Given the description of an element on the screen output the (x, y) to click on. 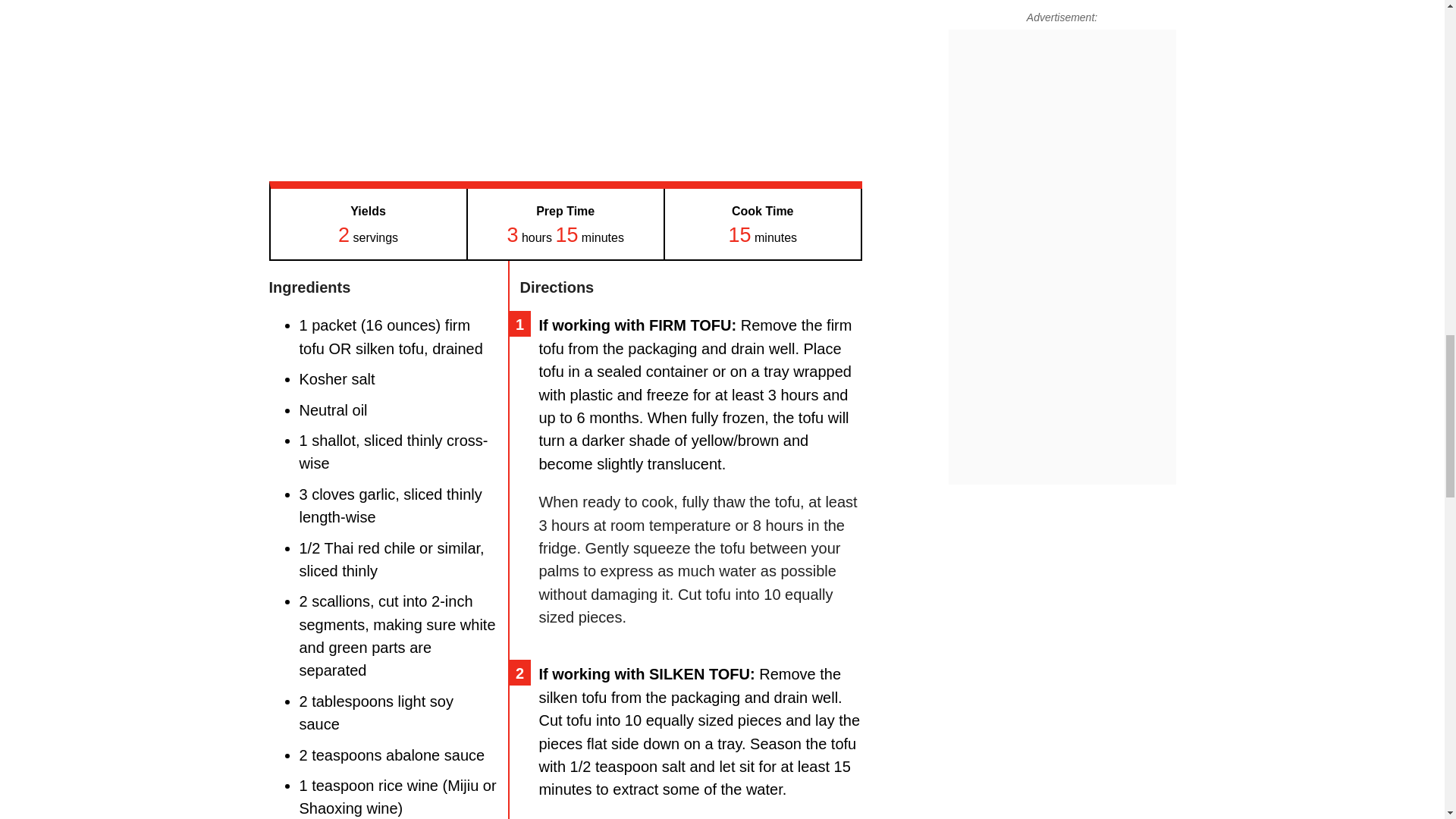
YouTube video player (480, 79)
